Given the description of an element on the screen output the (x, y) to click on. 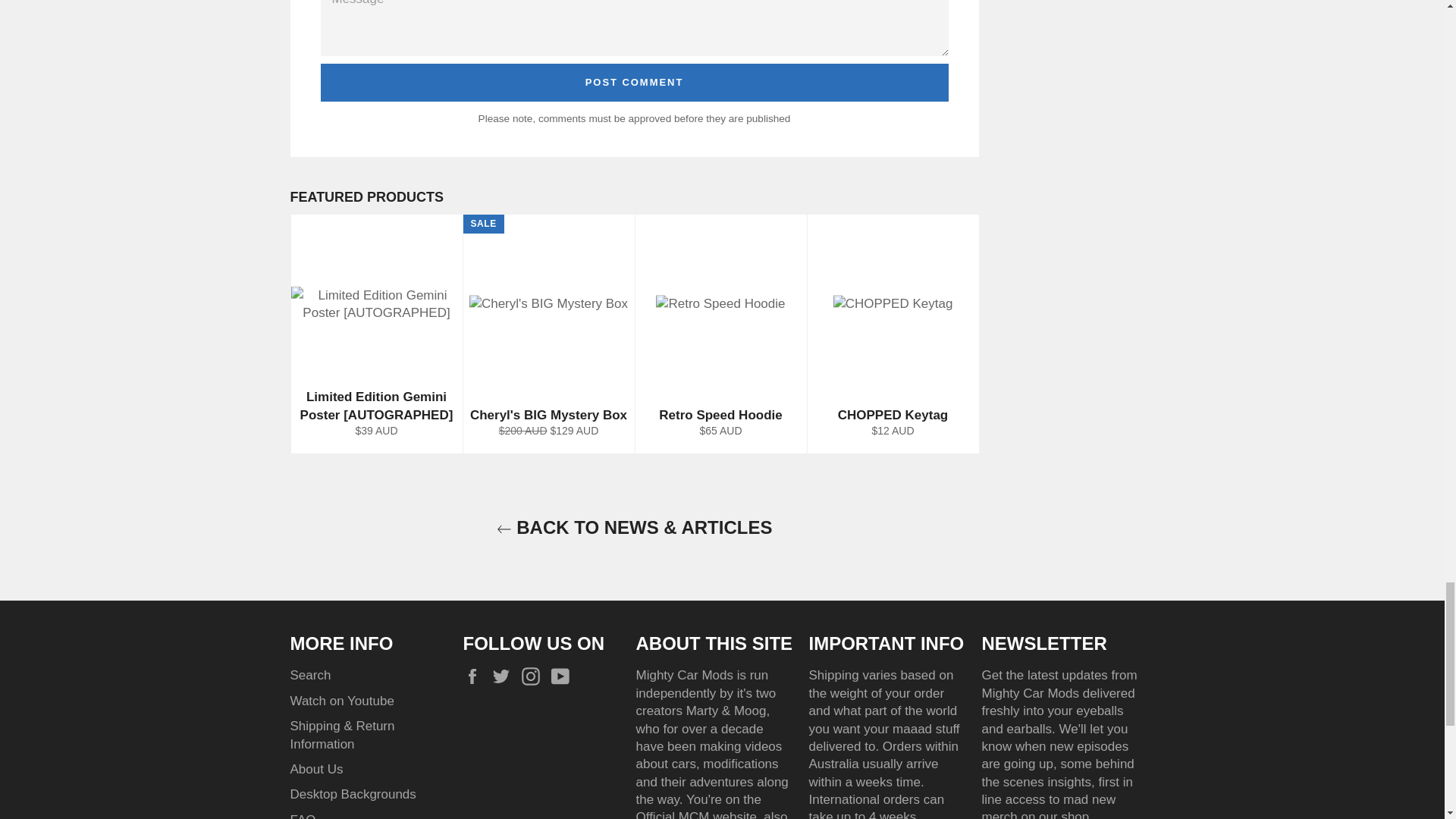
Mighty Car Mods on YouTube (563, 675)
Mighty Car Mods on Instagram (534, 675)
Mighty Car Mods on Twitter (505, 675)
Post comment (633, 82)
Mighty Car Mods on Facebook (475, 675)
